Given the description of an element on the screen output the (x, y) to click on. 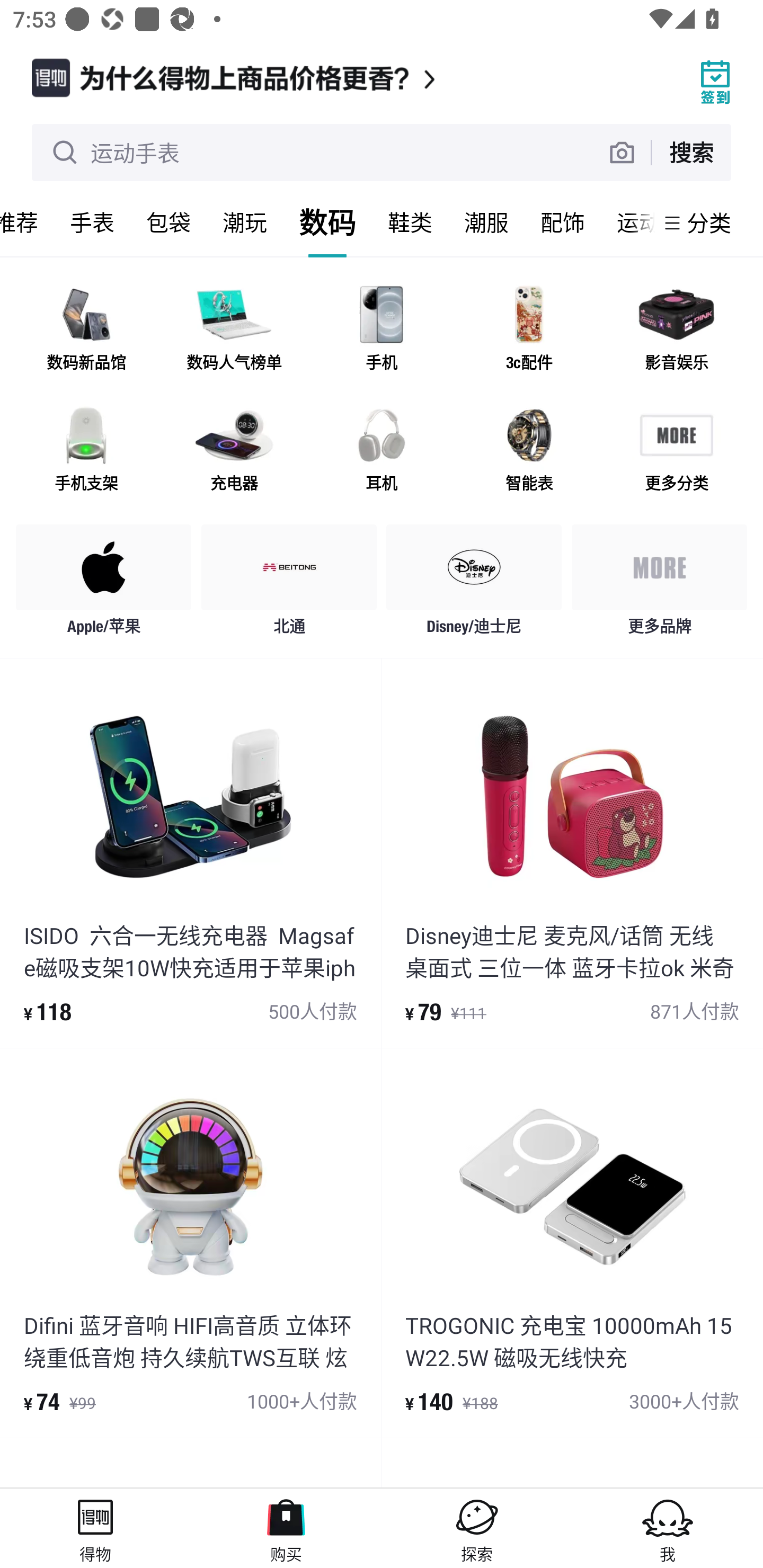
搜索 (690, 152)
手表 (92, 222)
包袋 (168, 222)
潮玩 (244, 222)
数码 (327, 222)
鞋类 (410, 222)
潮服 (486, 222)
配饰 (562, 222)
分类 (708, 222)
数码新品馆 (86, 329)
数码人气榜单 (233, 329)
手机 (381, 329)
3c配件 (528, 329)
影音娱乐 (676, 329)
手机支架 (86, 450)
充电器 (233, 450)
耳机 (381, 450)
智能表 (528, 450)
更多分类 (676, 450)
Apple/苹果 (103, 583)
北通 (288, 583)
Disney/迪士尼 (473, 583)
更多品牌 (658, 583)
得物 (95, 1528)
购买 (285, 1528)
探索 (476, 1528)
我 (667, 1528)
